Given the description of an element on the screen output the (x, y) to click on. 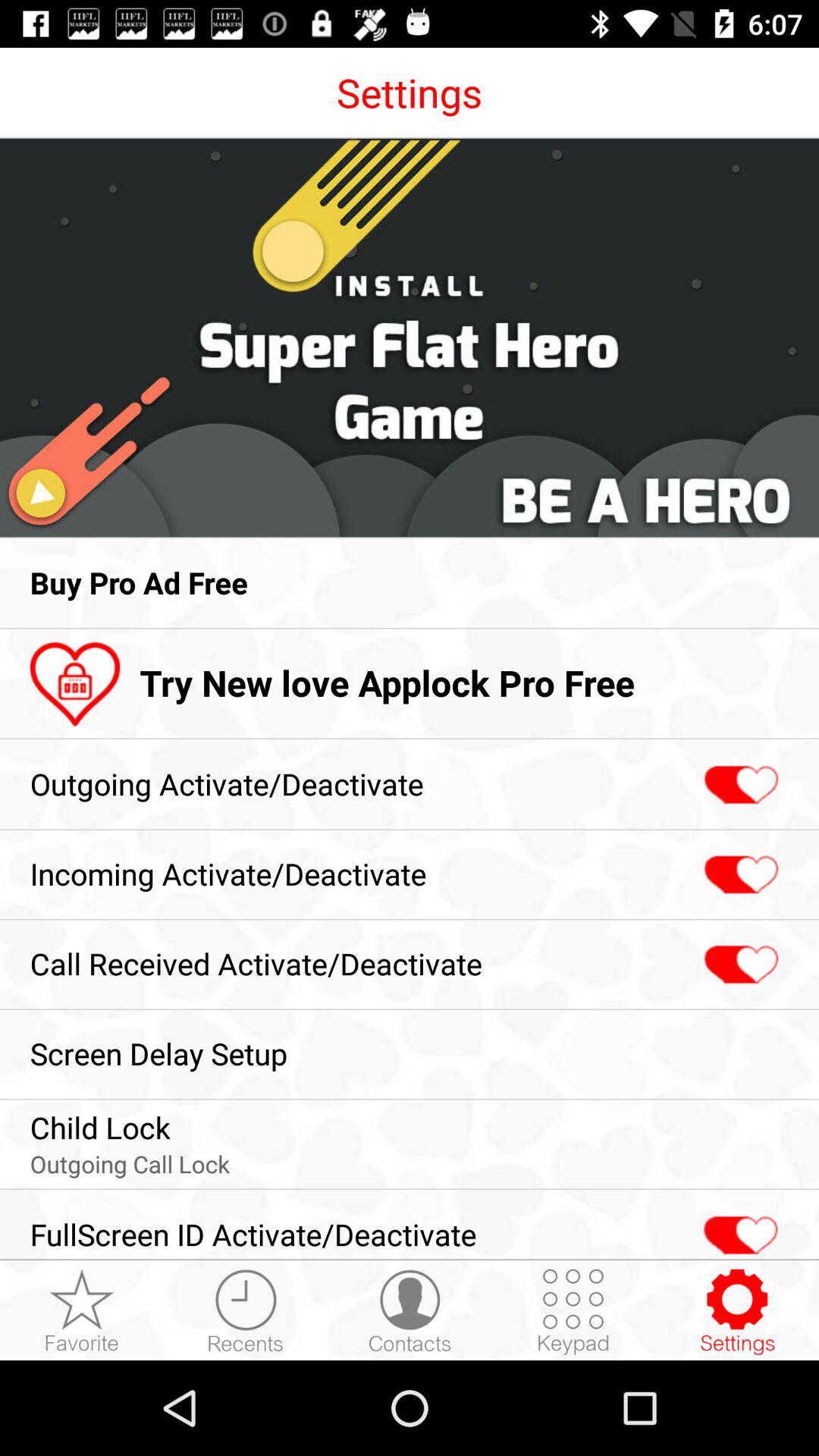
toggles the call received status (739, 964)
